Given the description of an element on the screen output the (x, y) to click on. 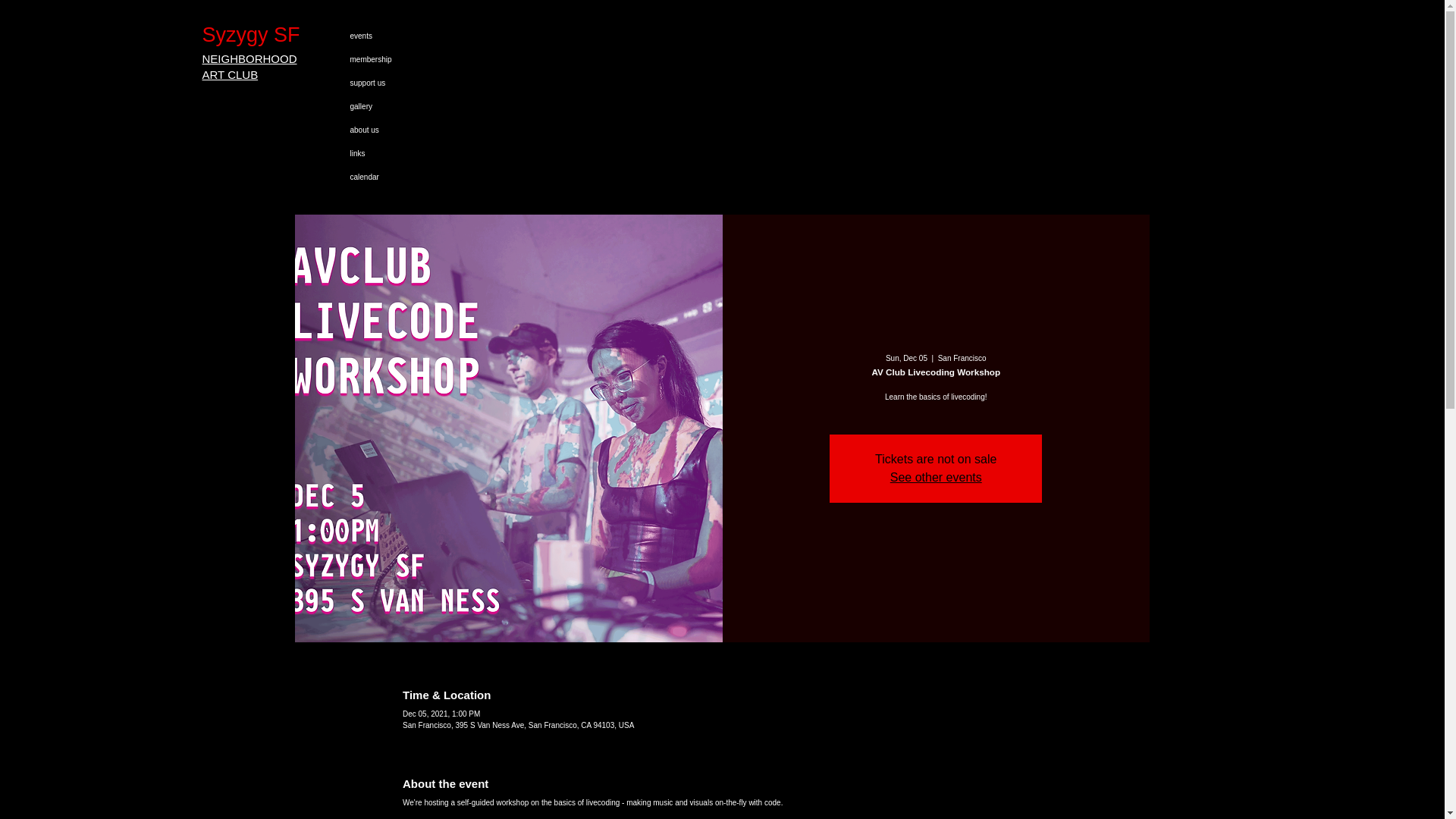
gallery (419, 106)
See other events (935, 477)
membership (419, 59)
events (419, 35)
support us (419, 83)
calendar (419, 177)
about us (419, 129)
links (419, 153)
Syzygy SF (269, 34)
